Given the description of an element on the screen output the (x, y) to click on. 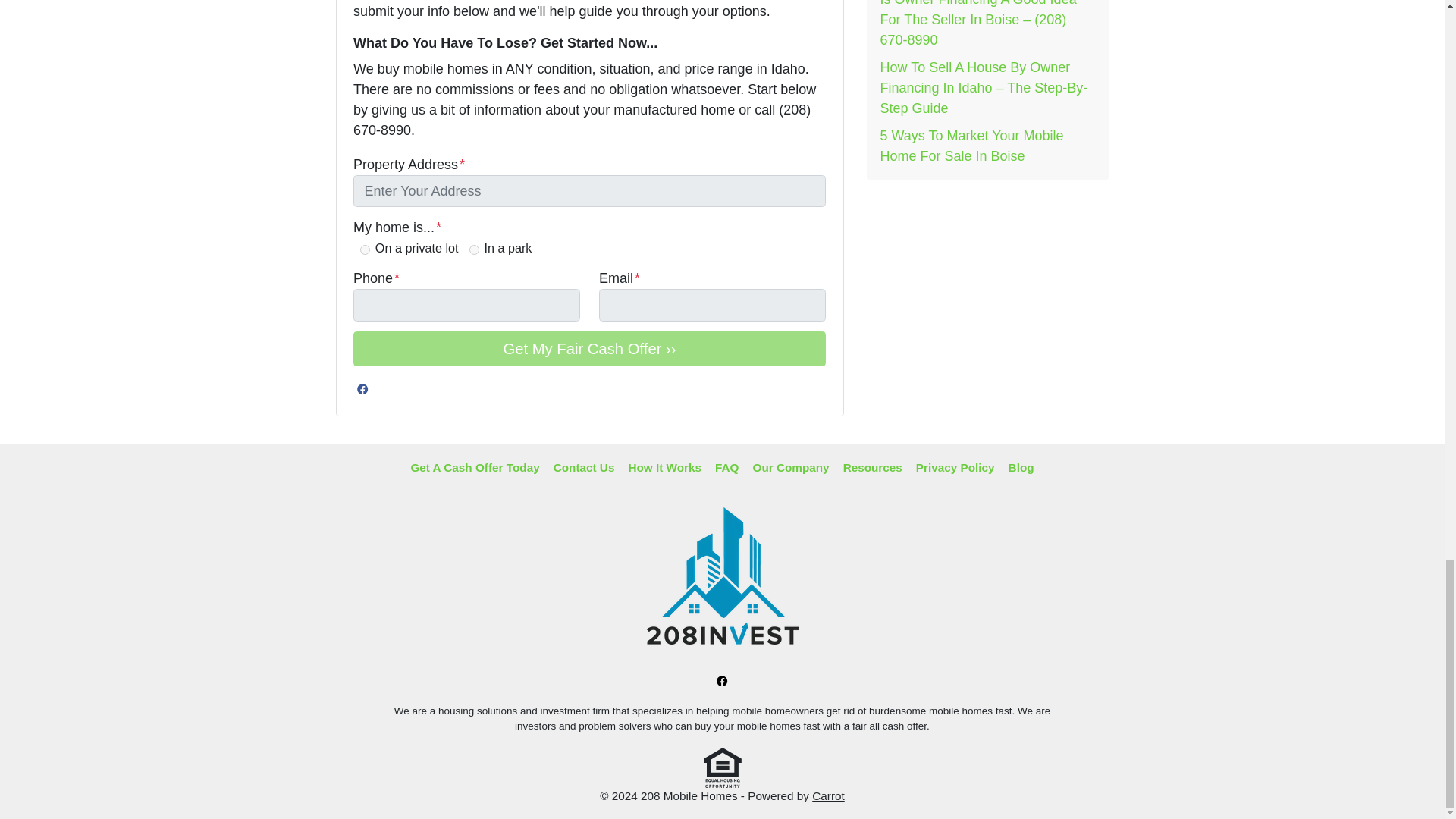
5 Ways To Market Your Mobile Home For Sale In Boise (970, 145)
Resources (871, 468)
Blog (1021, 468)
Privacy Policy (954, 468)
Facebook (721, 680)
Get A Cash Offer Today (474, 468)
Our Company (790, 468)
In a park (473, 249)
How It Works (664, 468)
Facebook (362, 389)
FAQ (726, 468)
Contact Us (584, 468)
On a private lot (364, 249)
Carrot (828, 795)
